Given the description of an element on the screen output the (x, y) to click on. 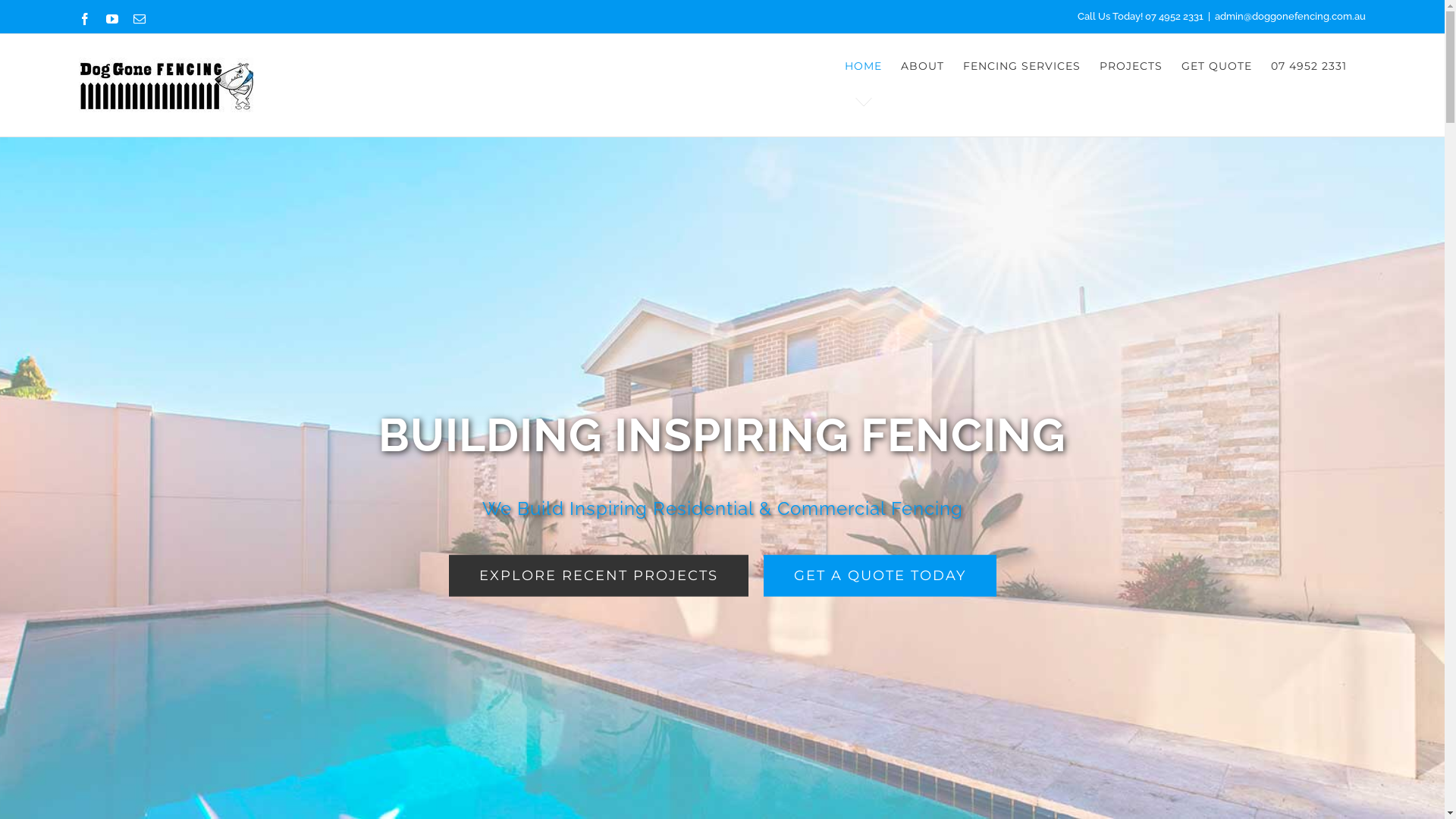
YouTube Element type: text (112, 18)
ABOUT Element type: text (922, 65)
PROJECTS Element type: text (1130, 65)
FENCING SERVICES Element type: text (1021, 65)
Facebook Element type: text (84, 18)
Email Element type: text (139, 18)
HOME Element type: text (862, 65)
EXPLORE RECENT PROJECTS Element type: text (598, 575)
GET QUOTE Element type: text (1216, 65)
07 4952 2331 Element type: text (1308, 65)
admin@doggonefencing.com.au Element type: text (1289, 15)
GET A QUOTE TODAY Element type: text (878, 575)
07 4952 2331 Element type: text (1174, 15)
